Given the description of an element on the screen output the (x, y) to click on. 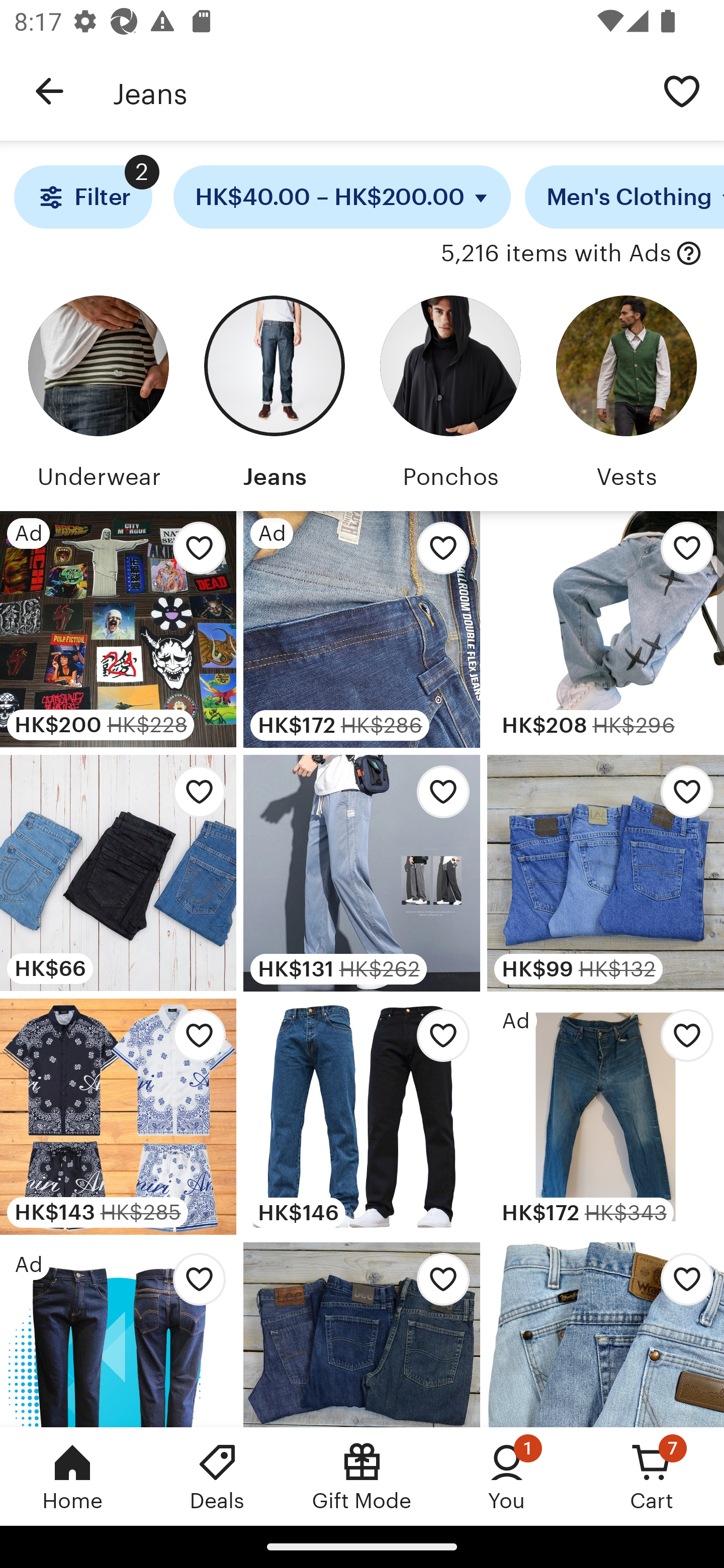
Navigate up (49, 91)
Save search (681, 90)
Jeans (375, 91)
Filter (82, 197)
HK$40.00 – HK$200.00 (342, 197)
Men's Clothing (624, 197)
5,216 items with Ads (555, 253)
with Ads (688, 253)
Underwear (97, 395)
Jeans (273, 395)
Ponchos (449, 395)
Vests (625, 395)
Add Duluth Mens Jeans to favorites (438, 553)
Add Vintage levis 501 blue jeans 36 to favorites (681, 1040)
Deals (216, 1475)
Gift Mode (361, 1475)
You, 1 new notification You (506, 1475)
Cart, 7 new notifications Cart (651, 1475)
